Given the description of an element on the screen output the (x, y) to click on. 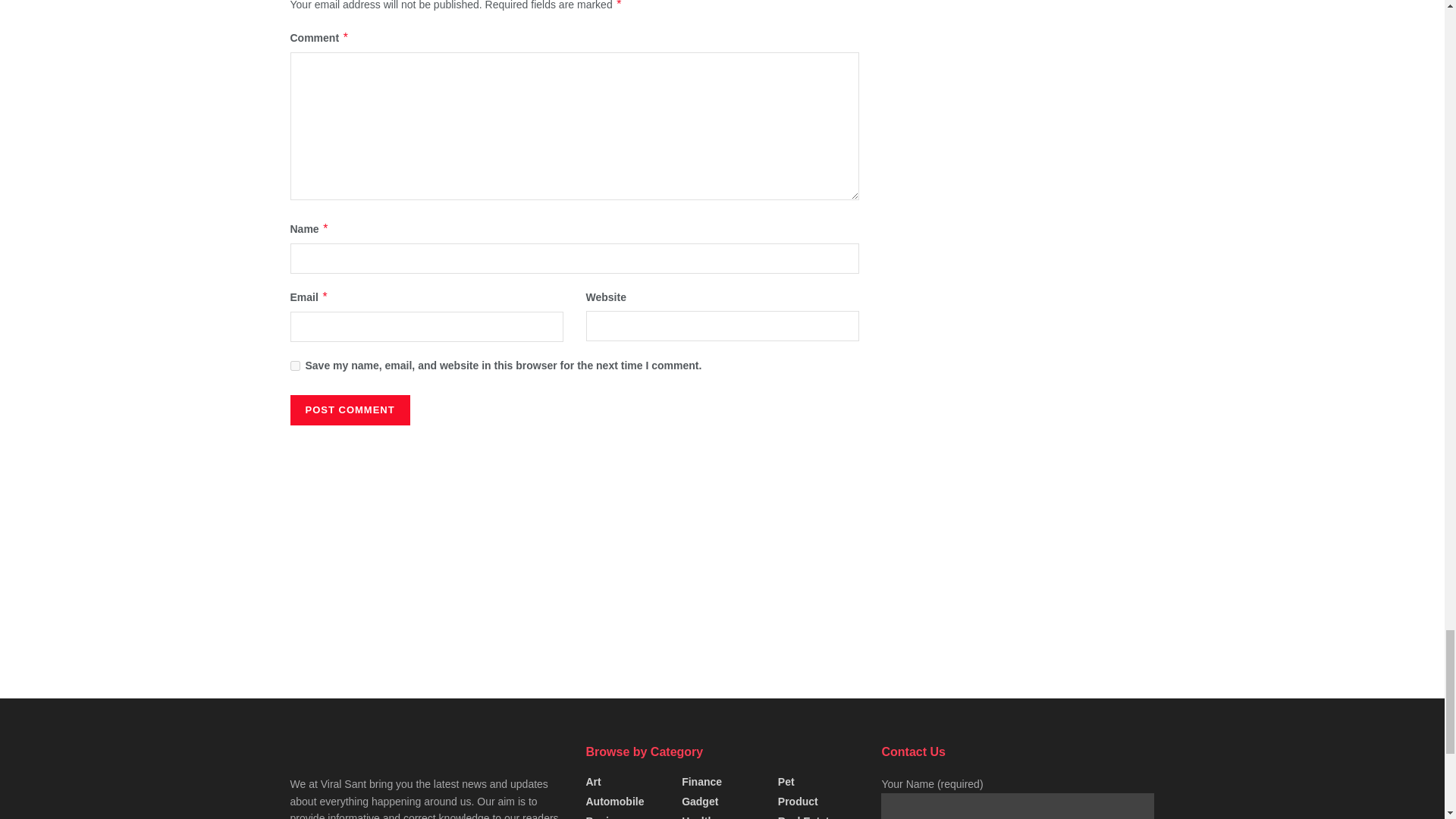
Post Comment (349, 409)
yes (294, 366)
